Given the description of an element on the screen output the (x, y) to click on. 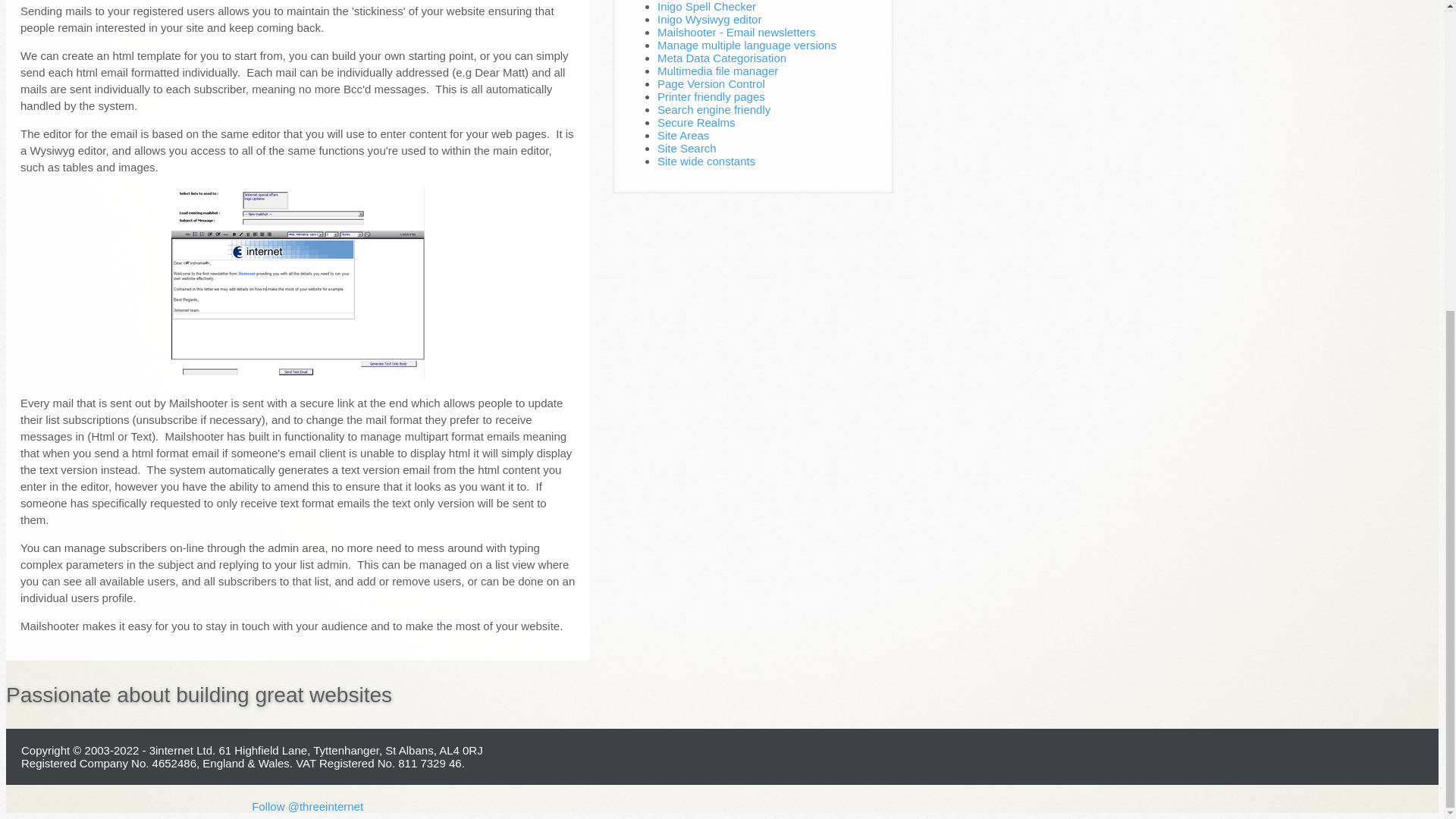
Inigo Wysiwyg editor (709, 19)
Search engine friendly (714, 109)
Multimedia file manager (717, 70)
Meta Data Categorisation (722, 57)
Inigo Spell Checker (706, 6)
Page Version Control (711, 83)
Printer friendly pages (711, 96)
Mailshooter - Email newsletters (736, 31)
Manage multiple language versions (746, 44)
